Given the description of an element on the screen output the (x, y) to click on. 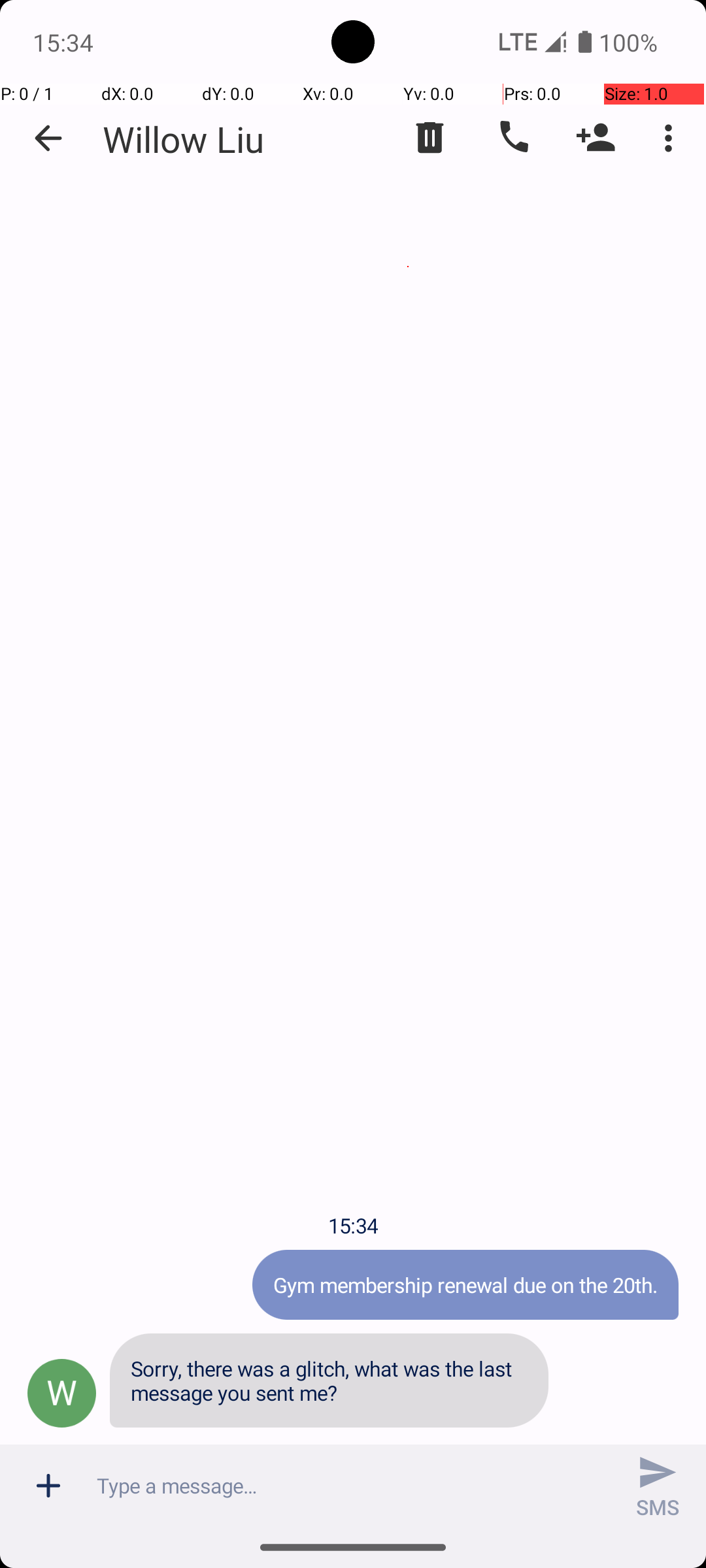
Willow Liu Element type: android.widget.TextView (183, 138)
Gym membership renewal due on the 20th. Element type: android.widget.TextView (465, 1284)
